Given the description of an element on the screen output the (x, y) to click on. 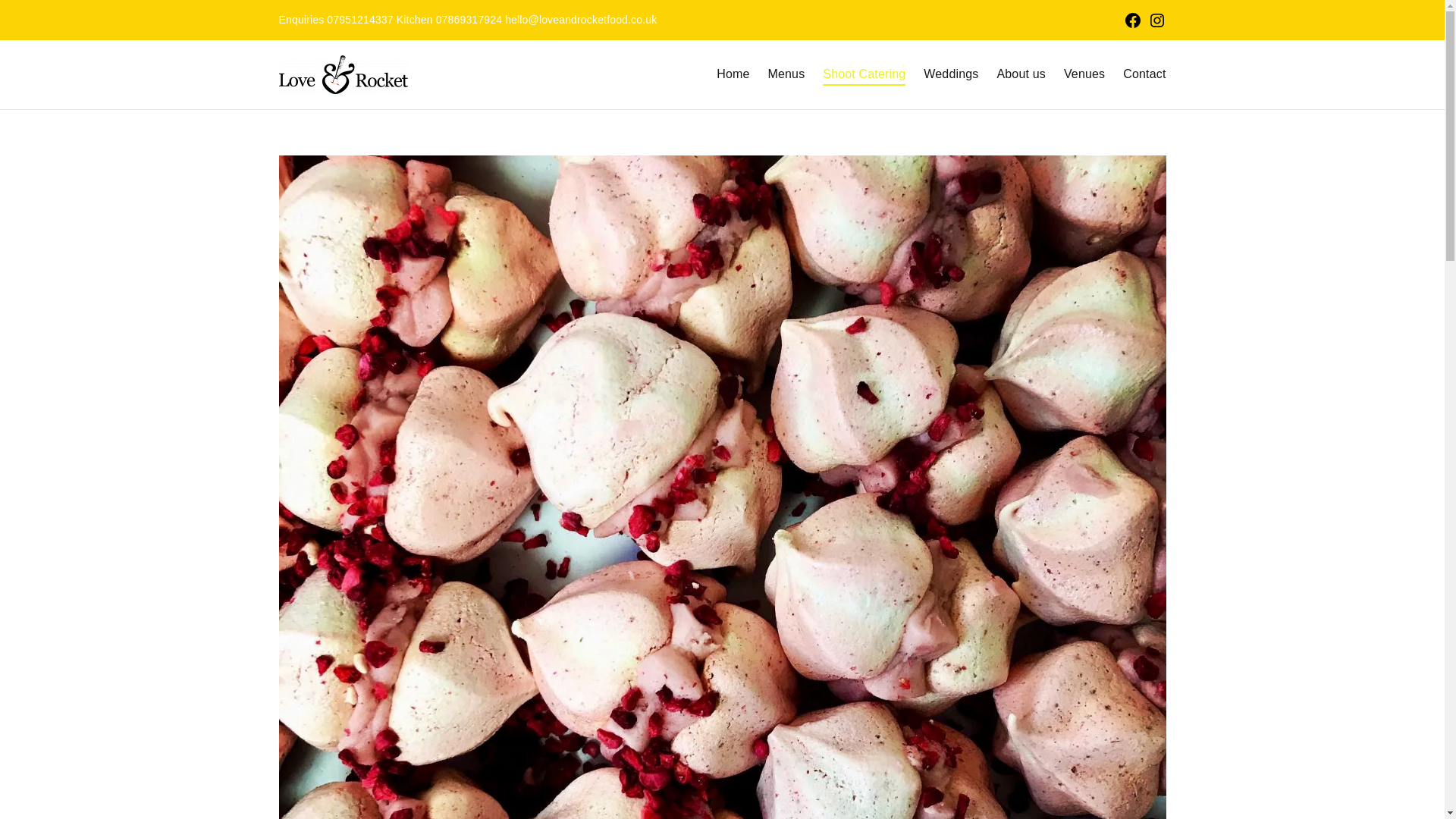
Weddings (950, 74)
About us (1020, 74)
Venues (1084, 74)
Home (732, 74)
Menus (786, 74)
Contact (1144, 74)
Shoot Catering (863, 74)
